Given the description of an element on the screen output the (x, y) to click on. 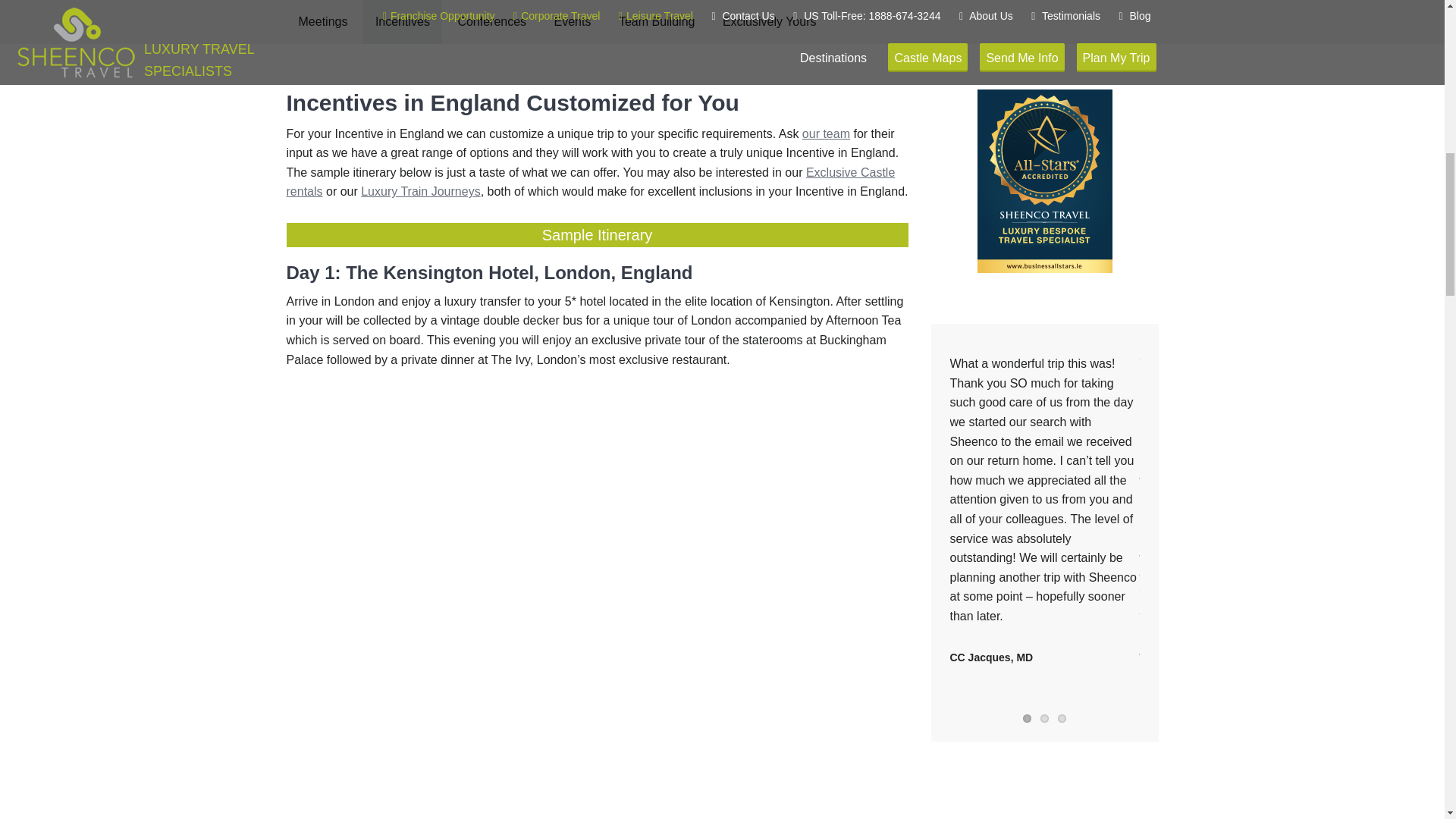
Meetings (322, 22)
3 (1061, 718)
Team Building (657, 22)
1 (1026, 718)
2 (1044, 718)
Events (572, 22)
Luxury Train Journeys (420, 191)
Incentives (402, 22)
our team (826, 133)
Exclusively Yours (769, 22)
